Given the description of an element on the screen output the (x, y) to click on. 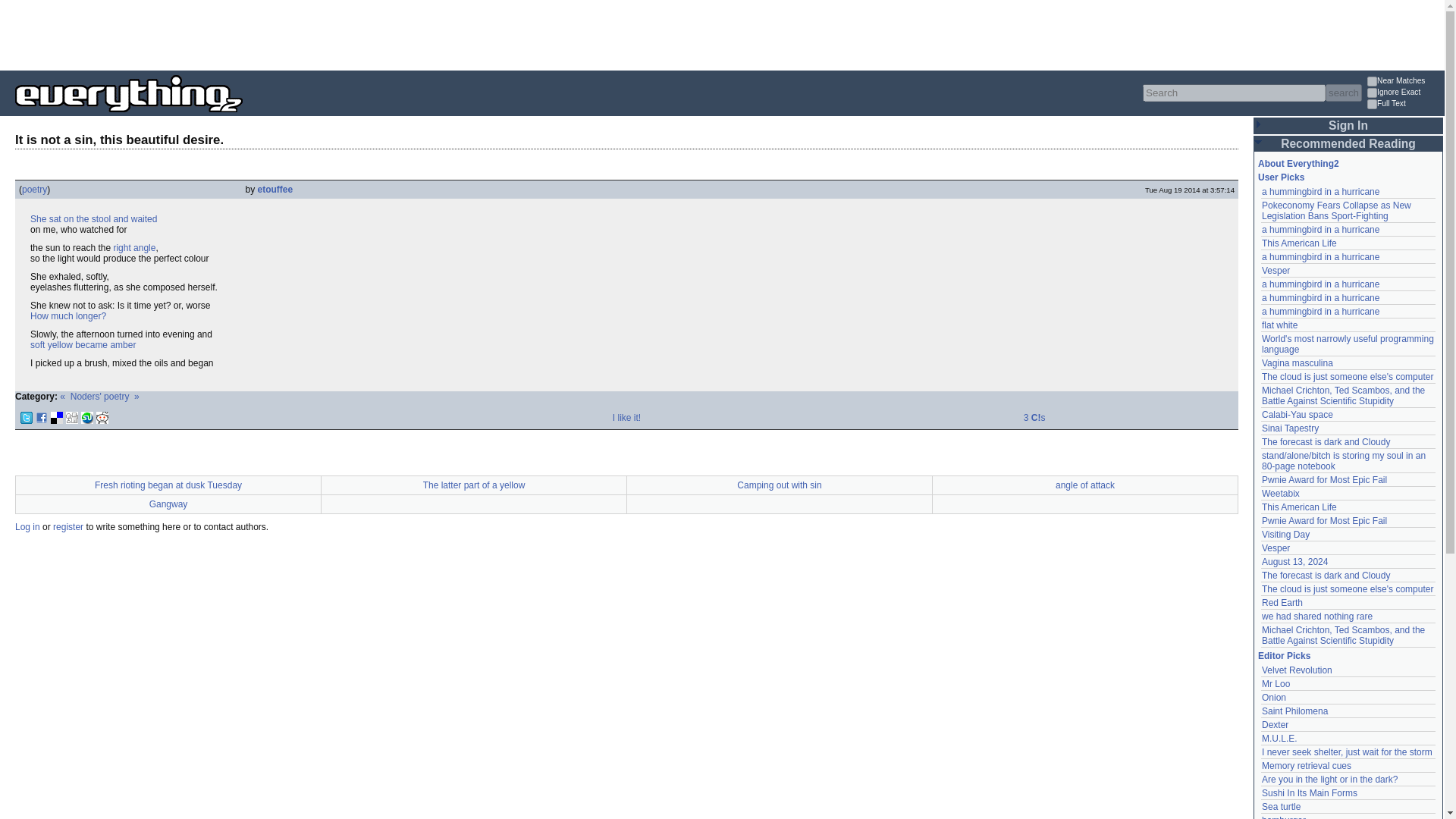
Reddit (101, 417)
right angle (134, 247)
poetry (33, 189)
Gangway (168, 503)
Aug 19 2014 at 3:57:14 (1189, 189)
3 C!s (1034, 417)
Noders' poetry (99, 396)
Before you ask a question (68, 316)
angle of attack (134, 247)
Search for text within writeups (1404, 104)
